Given the description of an element on the screen output the (x, y) to click on. 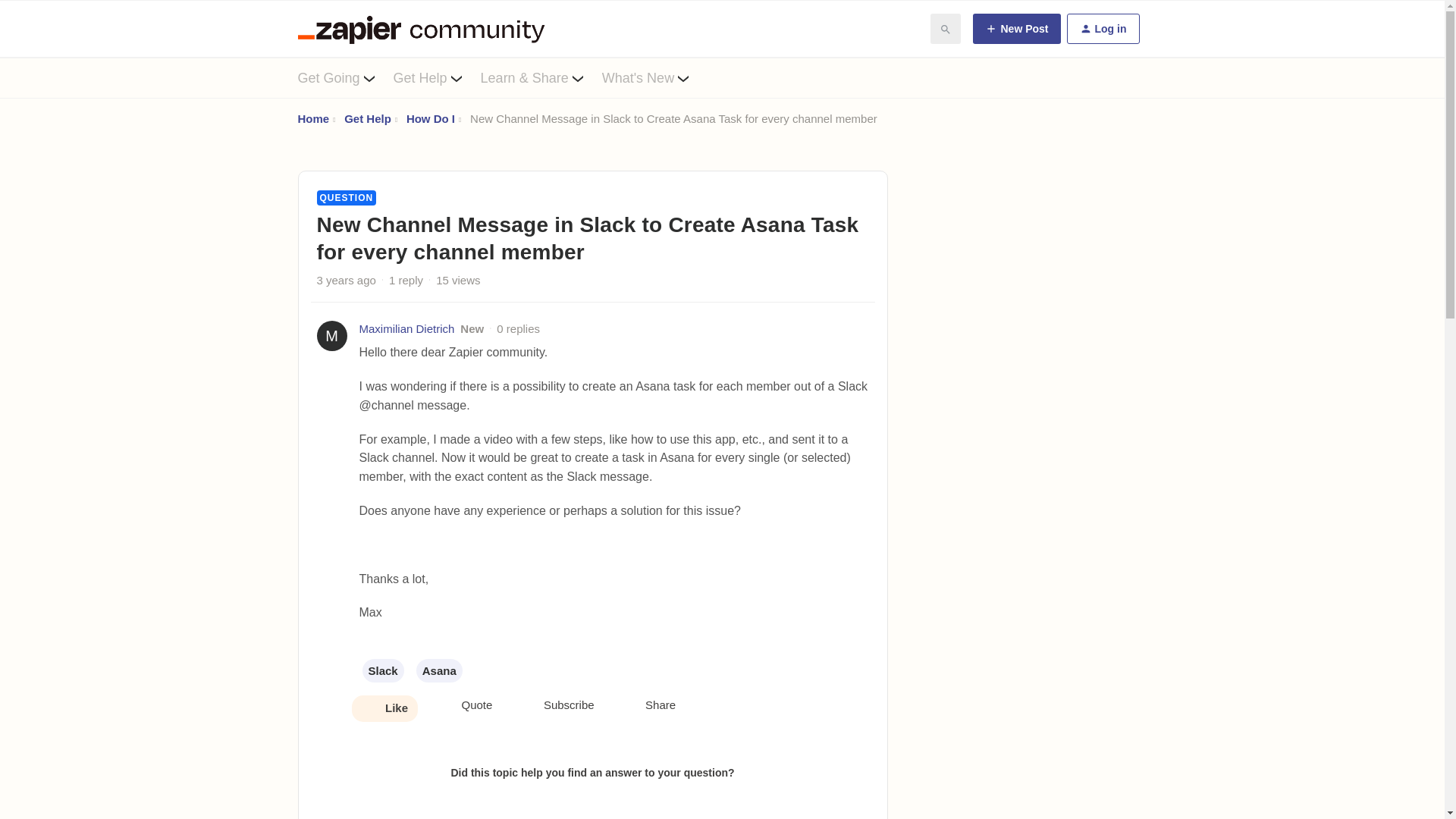
Get Help (436, 77)
Get Help (367, 118)
Get Going (345, 77)
Maximilian Dietrich (406, 329)
New Post (1015, 28)
Log in (1101, 28)
New Post (1015, 28)
What's New (654, 77)
Home (313, 118)
